Given the description of an element on the screen output the (x, y) to click on. 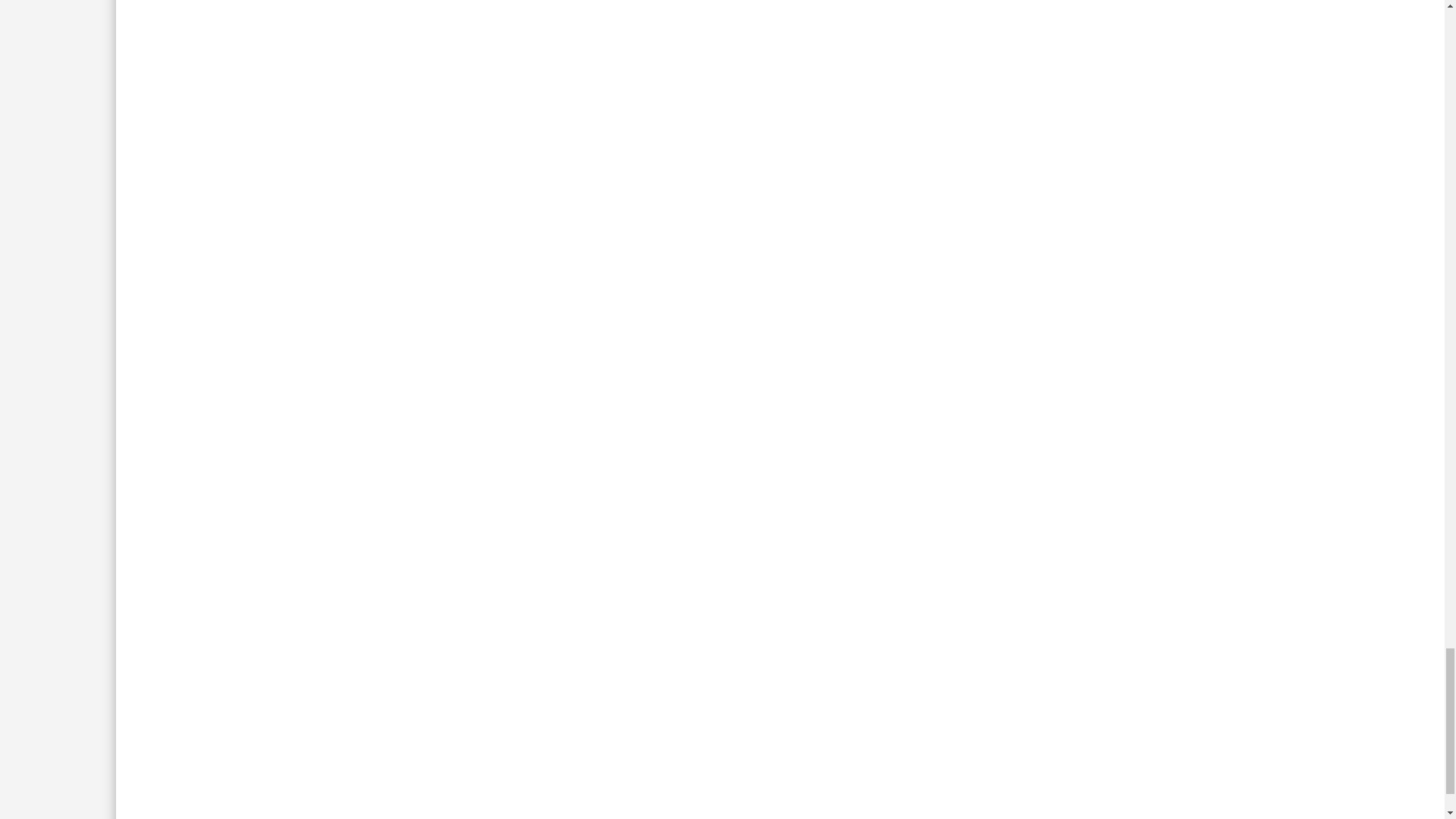
An Air of Legitimacy, A Hindrance to Progress (445, 544)
Cognitive Bias (338, 633)
Howard Herrell, MD (250, 633)
Evidence Based Medicine (439, 633)
